Given the description of an element on the screen output the (x, y) to click on. 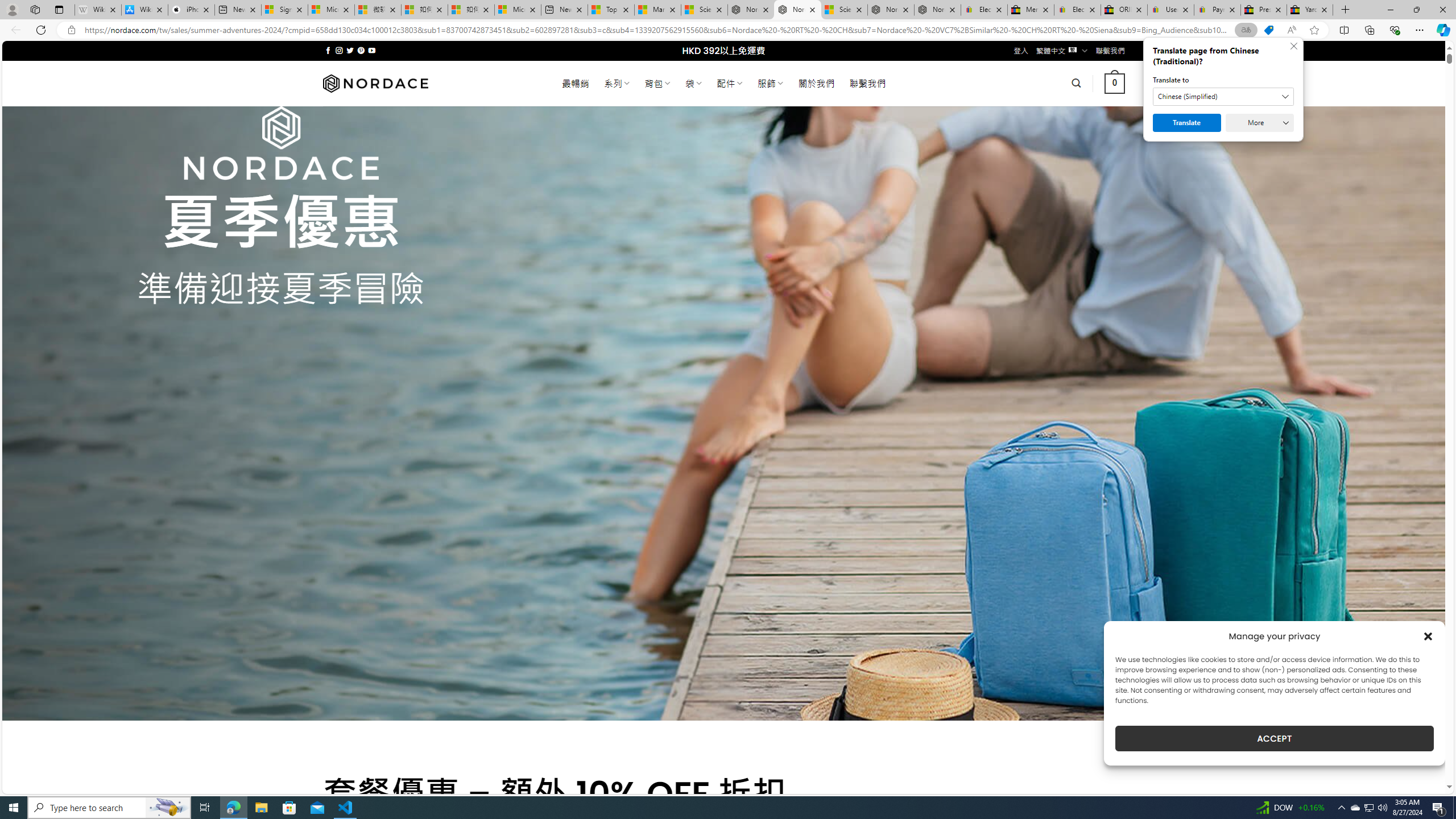
Follow on Facebook (327, 50)
Translate (1187, 122)
